Given the description of an element on the screen output the (x, y) to click on. 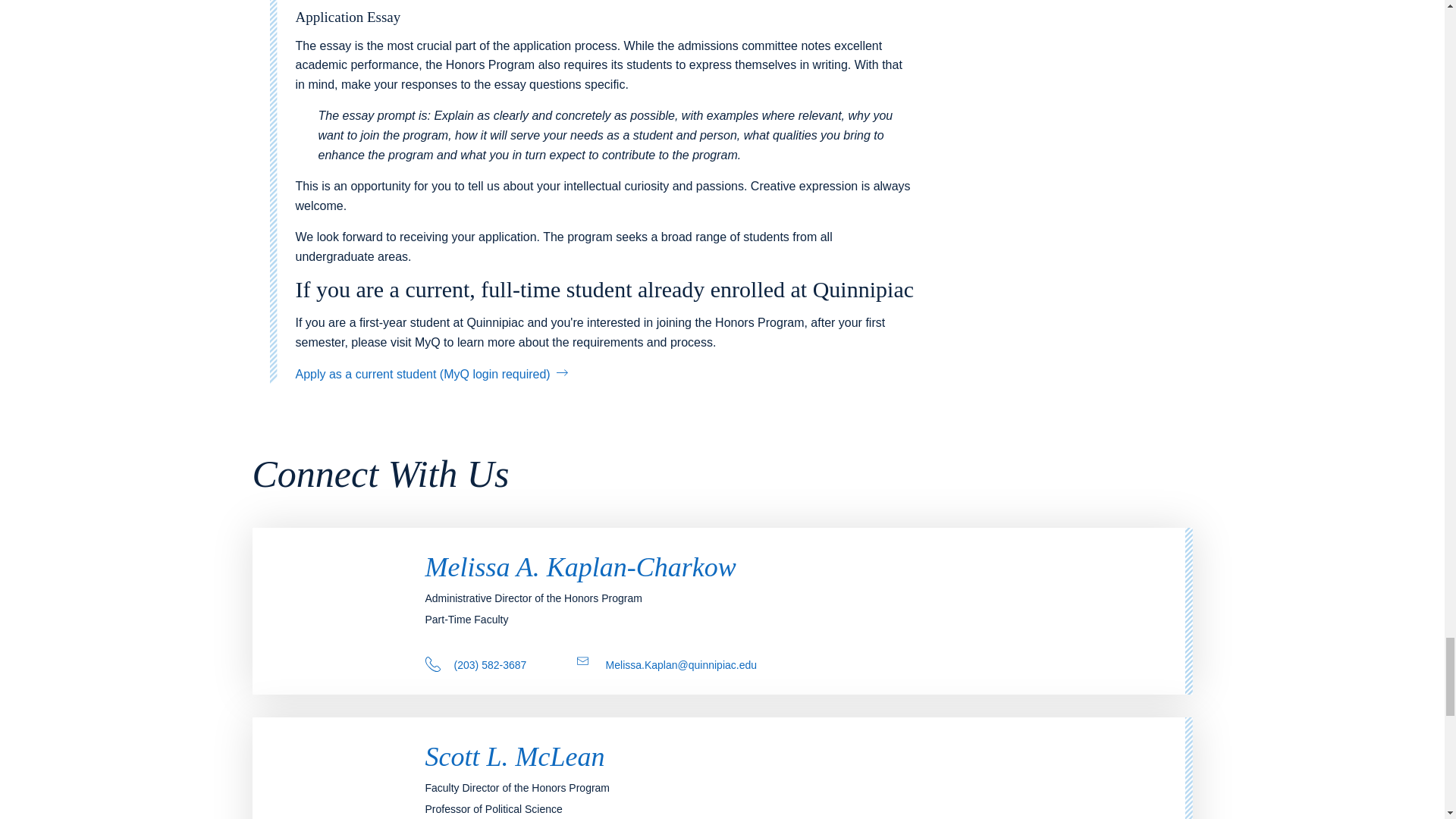
Apply as a current student (431, 373)
